Given the description of an element on the screen output the (x, y) to click on. 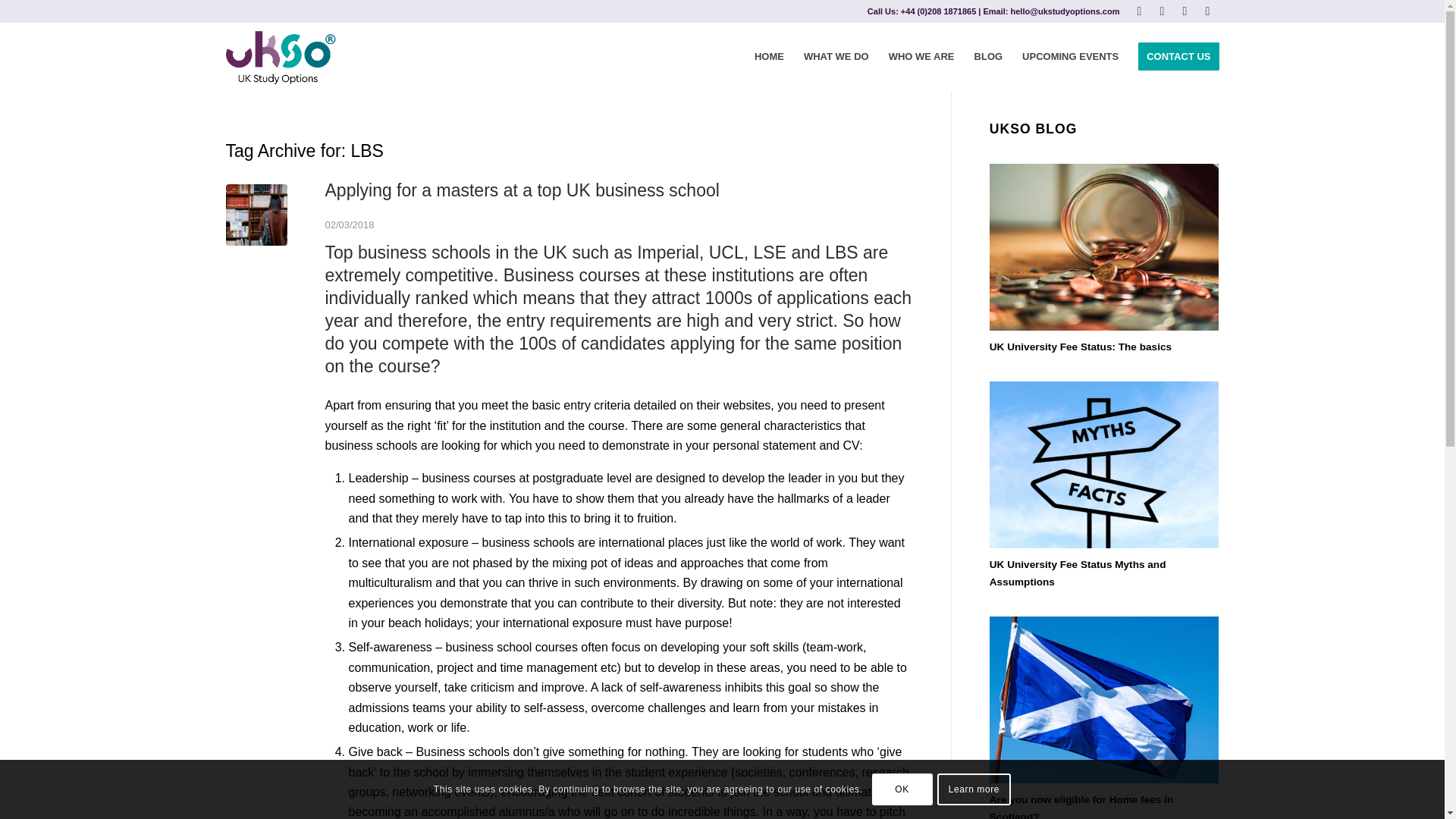
Youtube (1184, 11)
ukso-r-logo (280, 56)
Are you now eligible for Home fees in Scotland?  (1081, 806)
Read: UK University Fee Status: The basics (1104, 246)
UPCOMING EVENTS (1069, 56)
UK University Fee Status Myths and Assumptions (1078, 573)
Read: UK University Fee Status Myths and Assumptions (1078, 573)
